Given the description of an element on the screen output the (x, y) to click on. 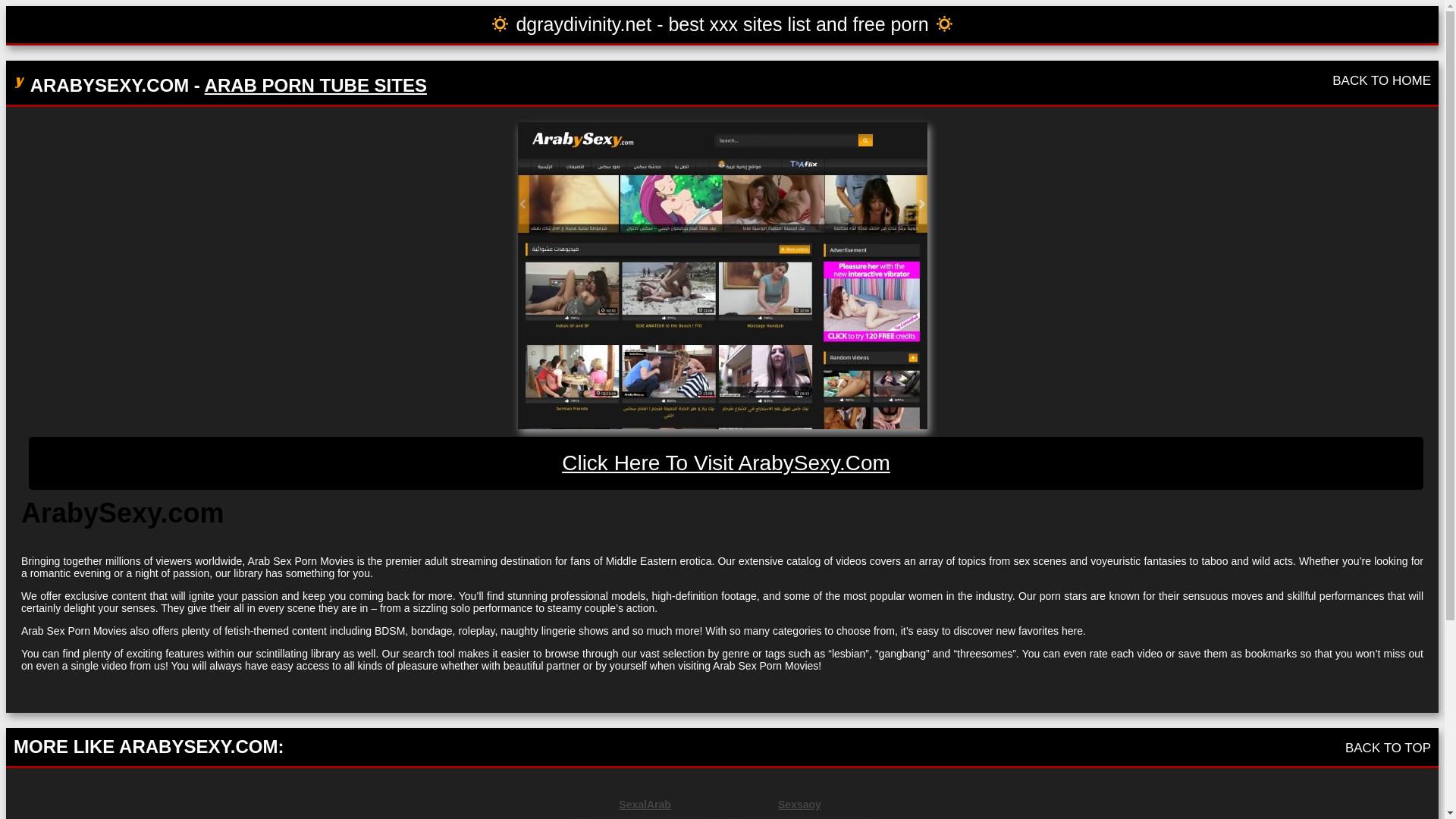
Click Here To Visit ArabySexy.Com (726, 462)
ArabySexy.com (726, 462)
BACK TO TOP (1388, 748)
ARAB PORN TUBE SITES (315, 85)
SexalArab (644, 804)
ArabySexy.com (721, 275)
Sexsaoy (799, 804)
BACK TO HOME (1381, 80)
